Given the description of an element on the screen output the (x, y) to click on. 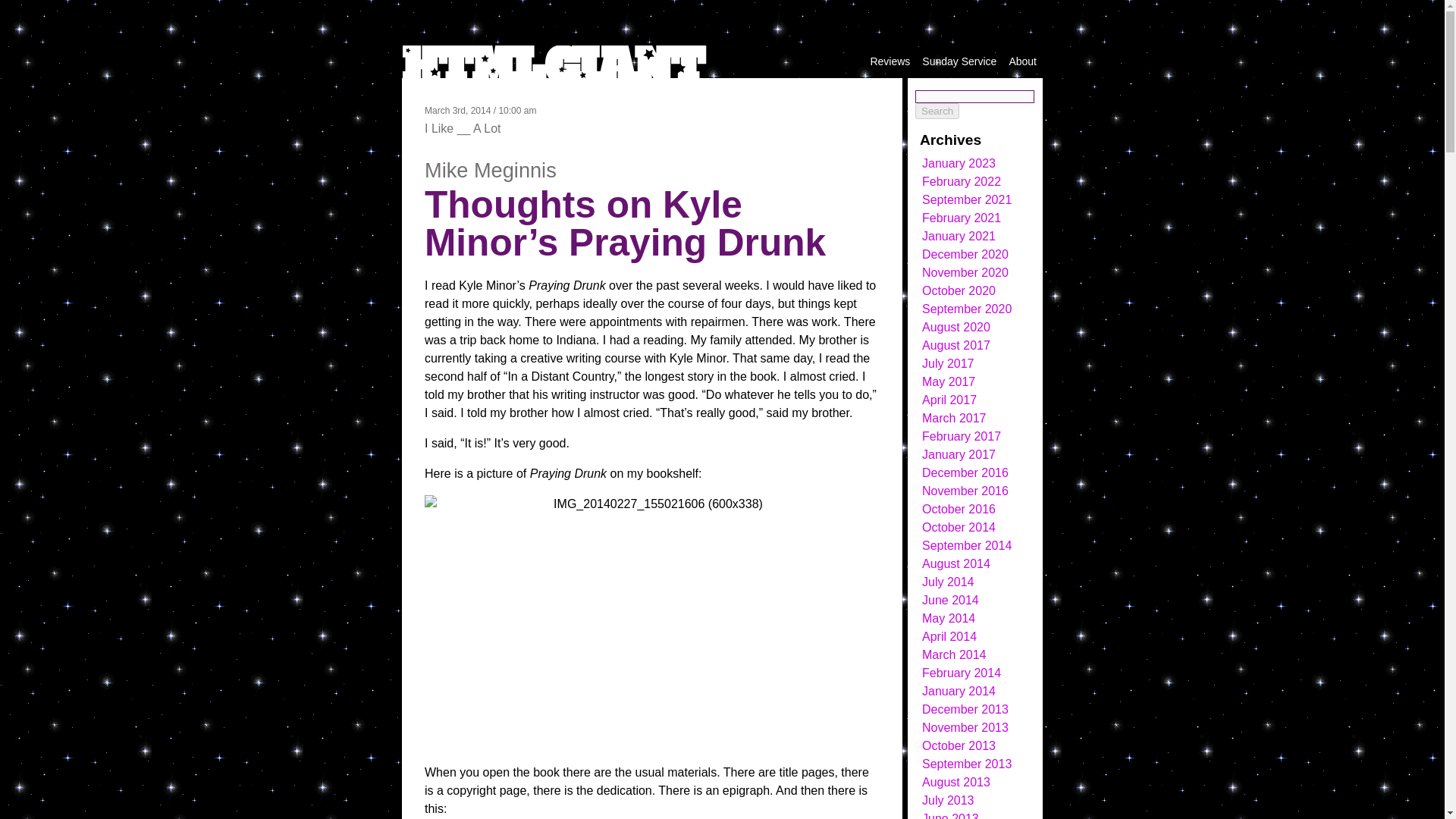
Search (937, 110)
July 2017 (947, 363)
October 2020 (958, 290)
August 2020 (955, 327)
September 2021 (966, 199)
November 2020 (965, 272)
Posts by Mike Meginnis (490, 169)
About (1022, 61)
September 2020 (966, 308)
January 2023 (958, 163)
February 2021 (961, 217)
Mike Meginnis (490, 169)
May 2017 (948, 381)
August 2017 (955, 345)
Sunday Service (958, 61)
